Given the description of an element on the screen output the (x, y) to click on. 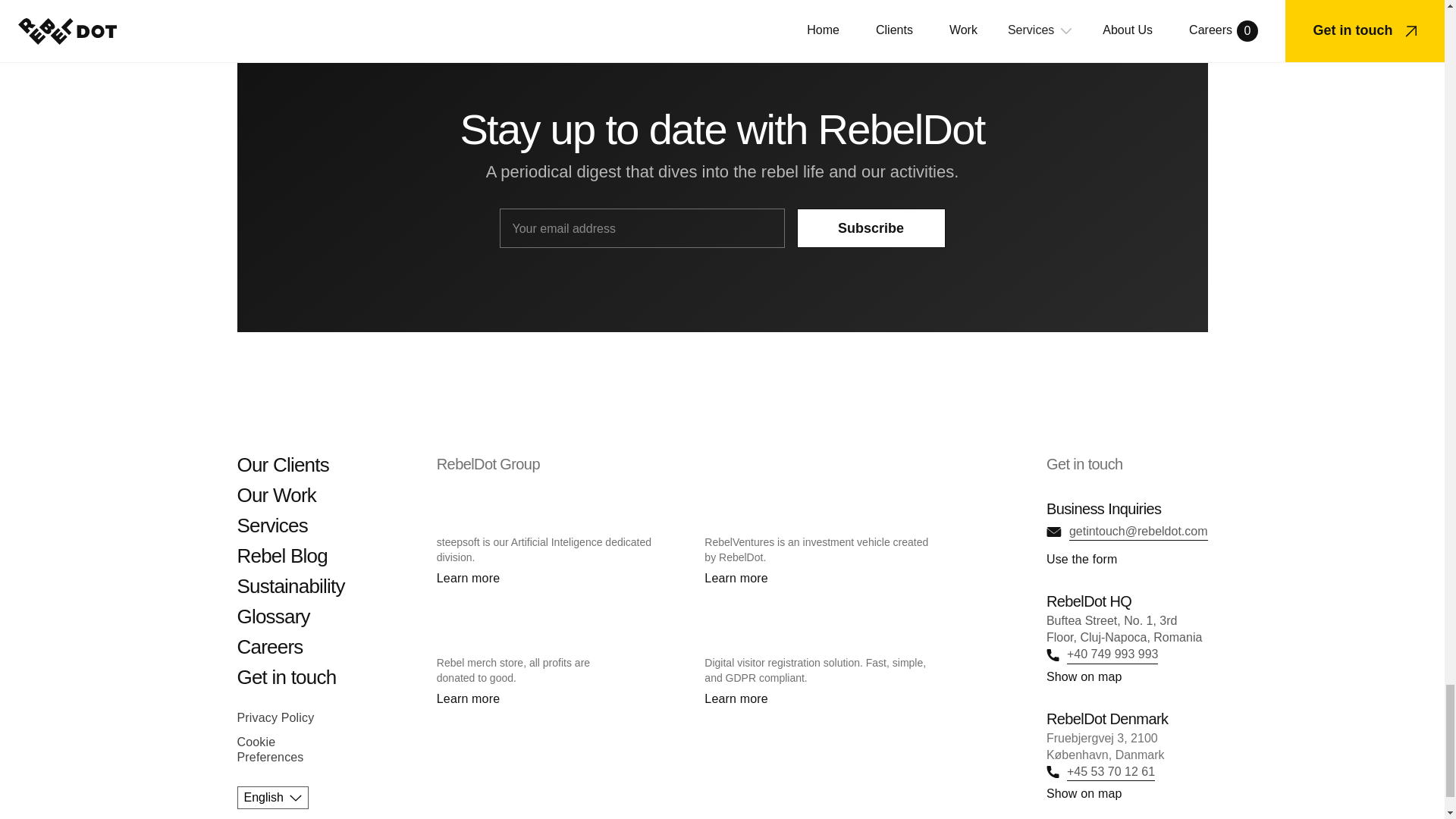
Subscribe (870, 228)
Careers (289, 647)
Rebel Blog (289, 556)
Our Clients (289, 465)
Cookie Preferences (268, 749)
Sustainability (289, 586)
Privacy Policy (274, 718)
Our Work (289, 495)
Subscribe (870, 228)
Get in touch (289, 677)
Glossary (289, 617)
Services (289, 526)
